Given the description of an element on the screen output the (x, y) to click on. 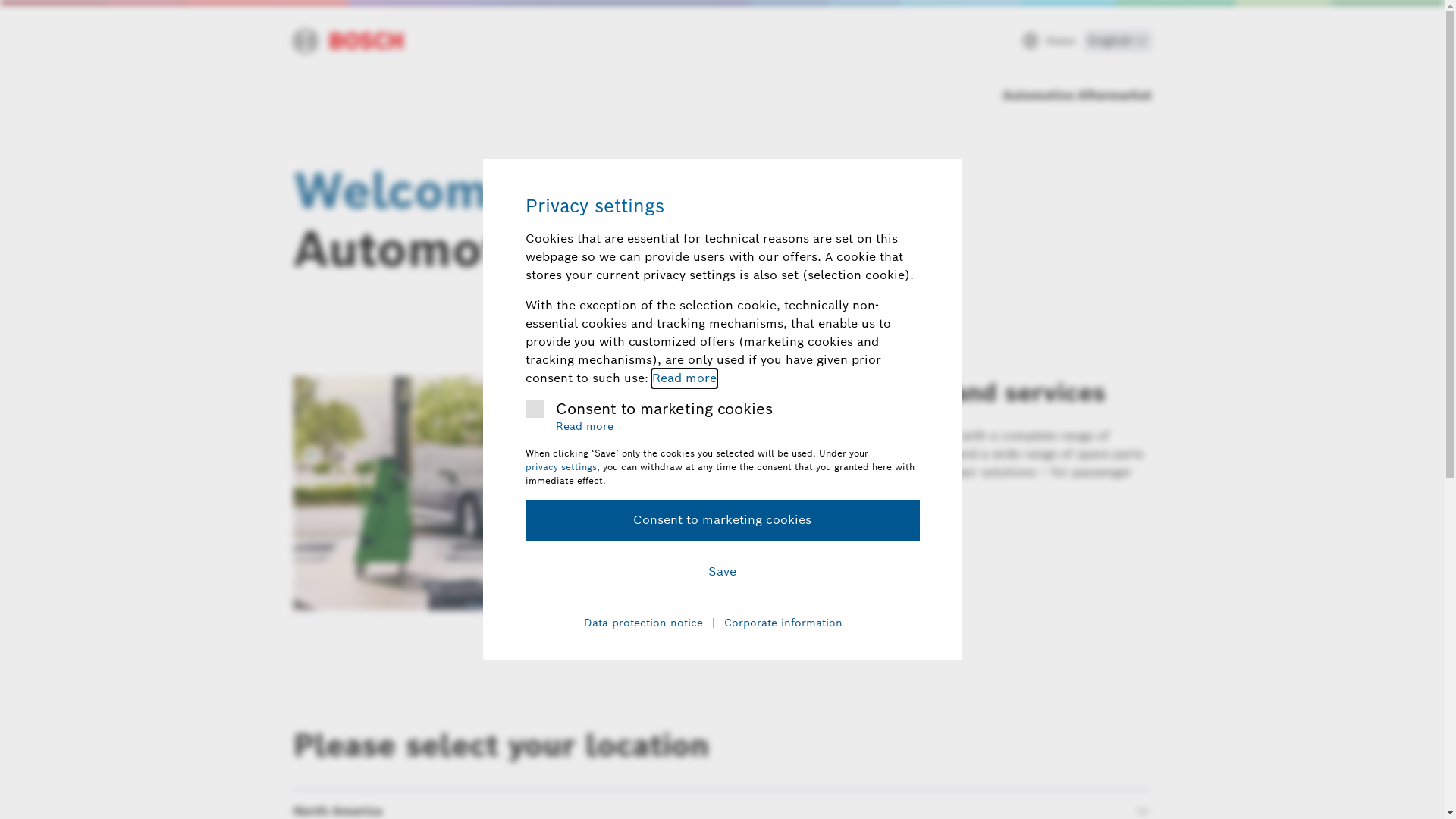
Consent to marketing cookies Element type: text (721, 519)
Save Element type: text (721, 571)
Read more Element type: text (583, 426)
Corporate information Element type: text (783, 622)
Data protection notice Element type: text (642, 622)
privacy settings Element type: text (560, 466)
Read more Element type: text (684, 378)
